Given the description of an element on the screen output the (x, y) to click on. 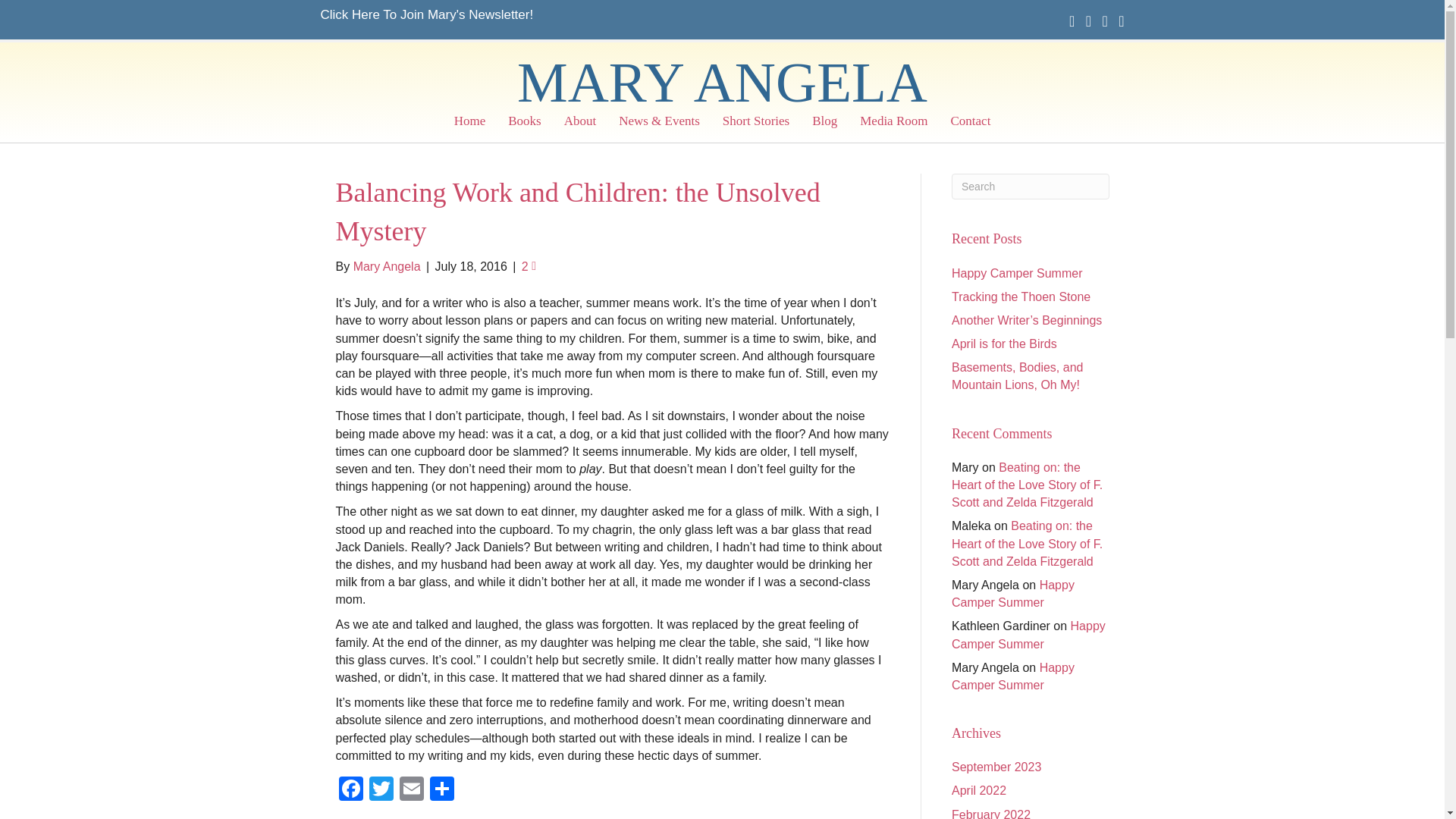
Email (411, 790)
MARY ANGELA (721, 81)
April is for the Birds (1004, 343)
Happy Camper Summer (1013, 675)
Twitter (380, 790)
Mary Angela (721, 81)
About (580, 123)
April 2022 (979, 789)
Media Room (893, 123)
Twitter (380, 790)
Share (441, 790)
Mary Angela (386, 266)
Basements, Bodies, and Mountain Lions, Oh My! (1017, 376)
